Given the description of an element on the screen output the (x, y) to click on. 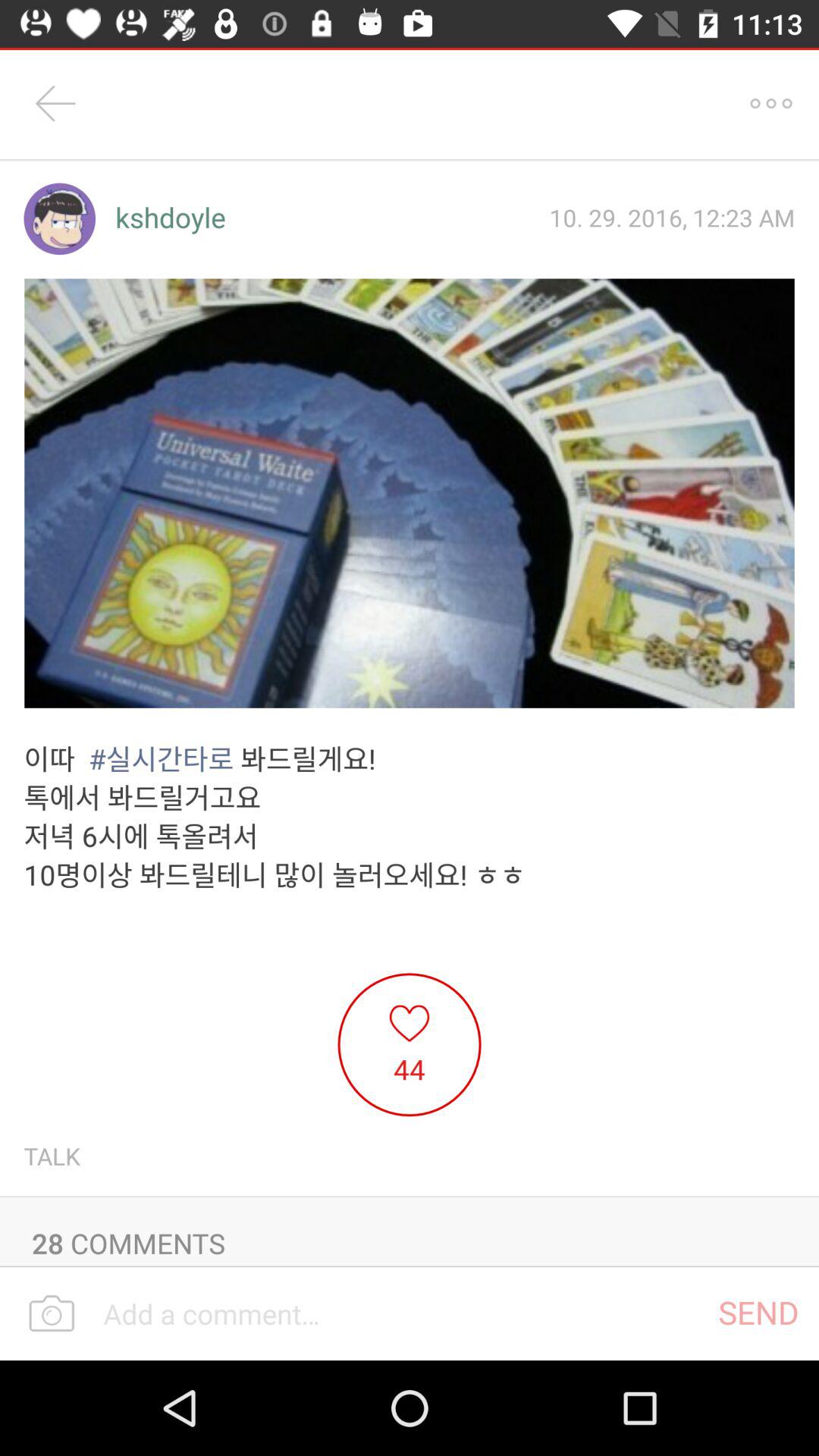
upload photo (51, 1314)
